Given the description of an element on the screen output the (x, y) to click on. 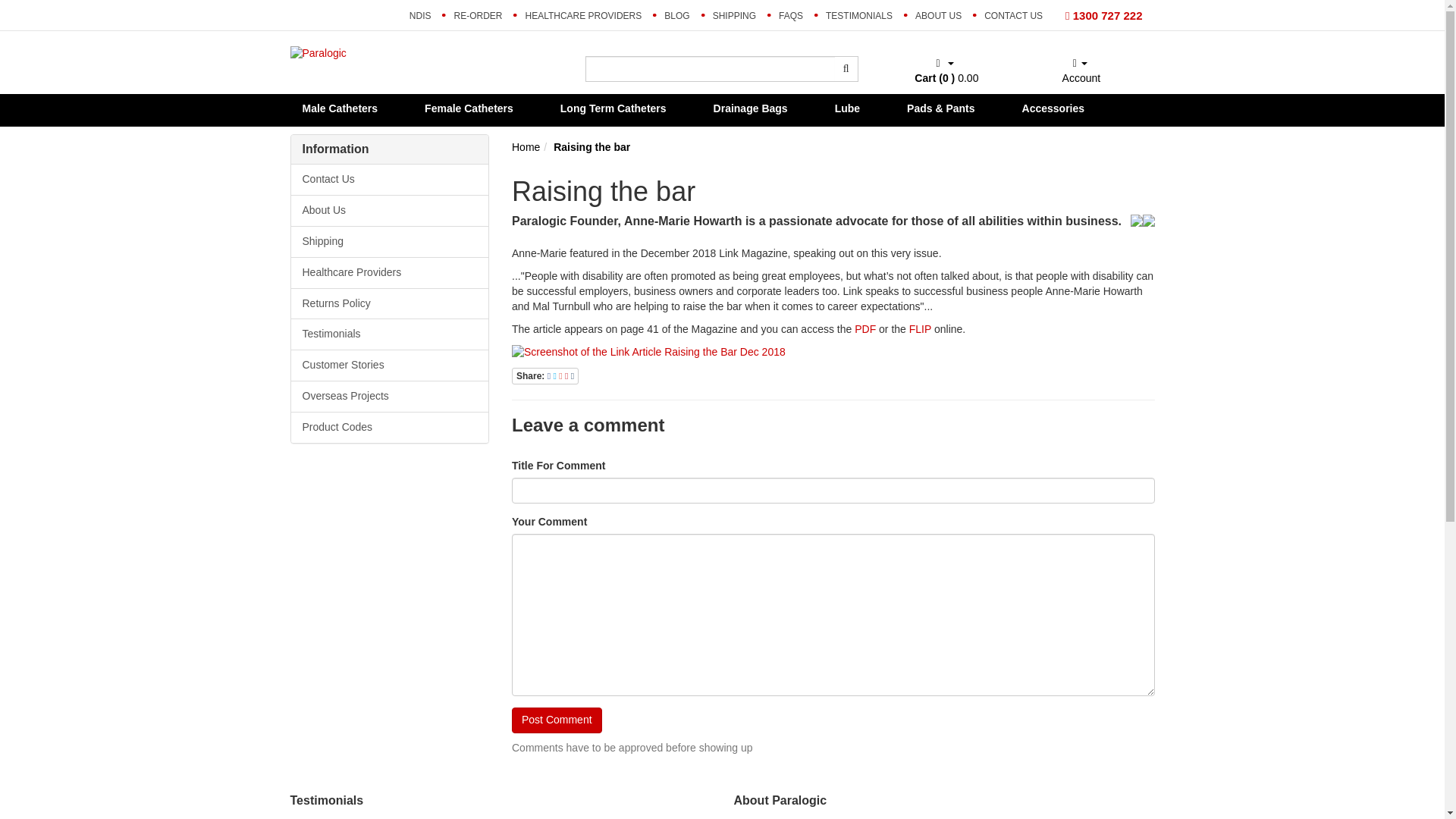
BLOG (676, 14)
SHIPPING (734, 14)
 Account (1079, 71)
Search (846, 68)
Long Term Catheters (619, 107)
1300 727 222 (1103, 14)
Paralogic (317, 52)
Female Catheters (474, 107)
RE-ORDER (477, 14)
NDIS (419, 14)
